Given the description of an element on the screen output the (x, y) to click on. 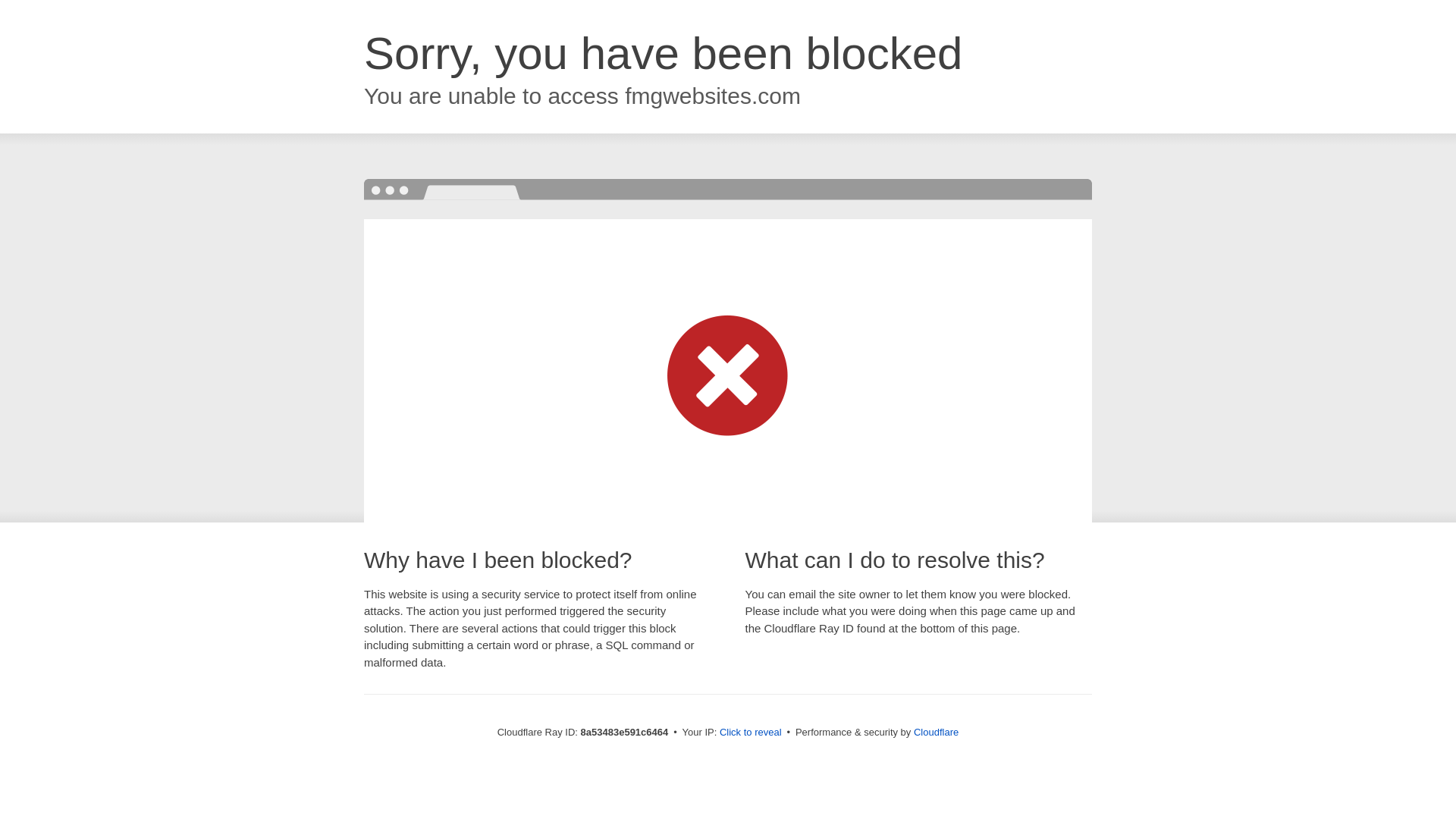
Cloudflare (936, 731)
Click to reveal (750, 732)
